Given the description of an element on the screen output the (x, y) to click on. 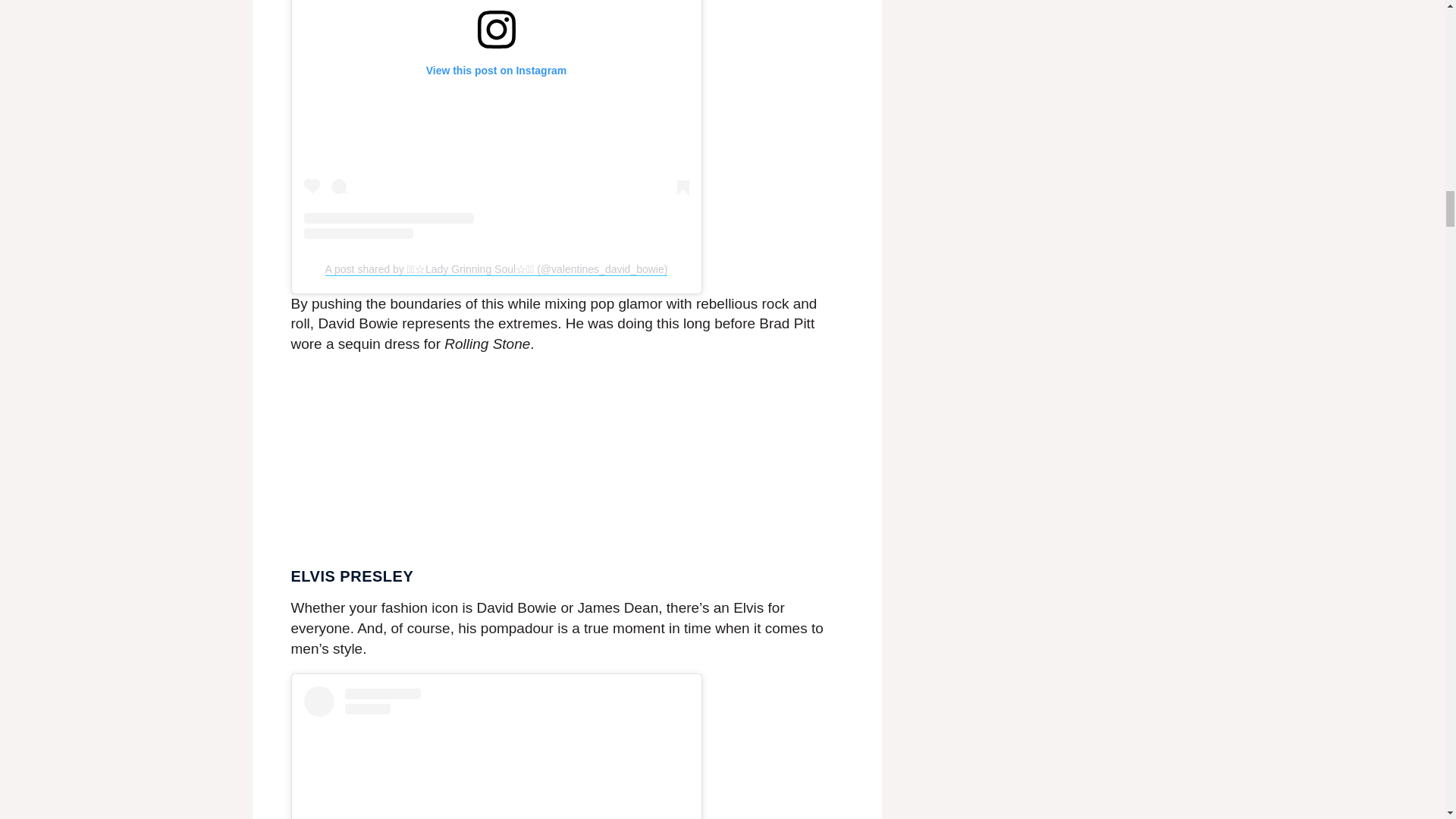
View this post on Instagram (495, 752)
View this post on Instagram (495, 119)
